Given the description of an element on the screen output the (x, y) to click on. 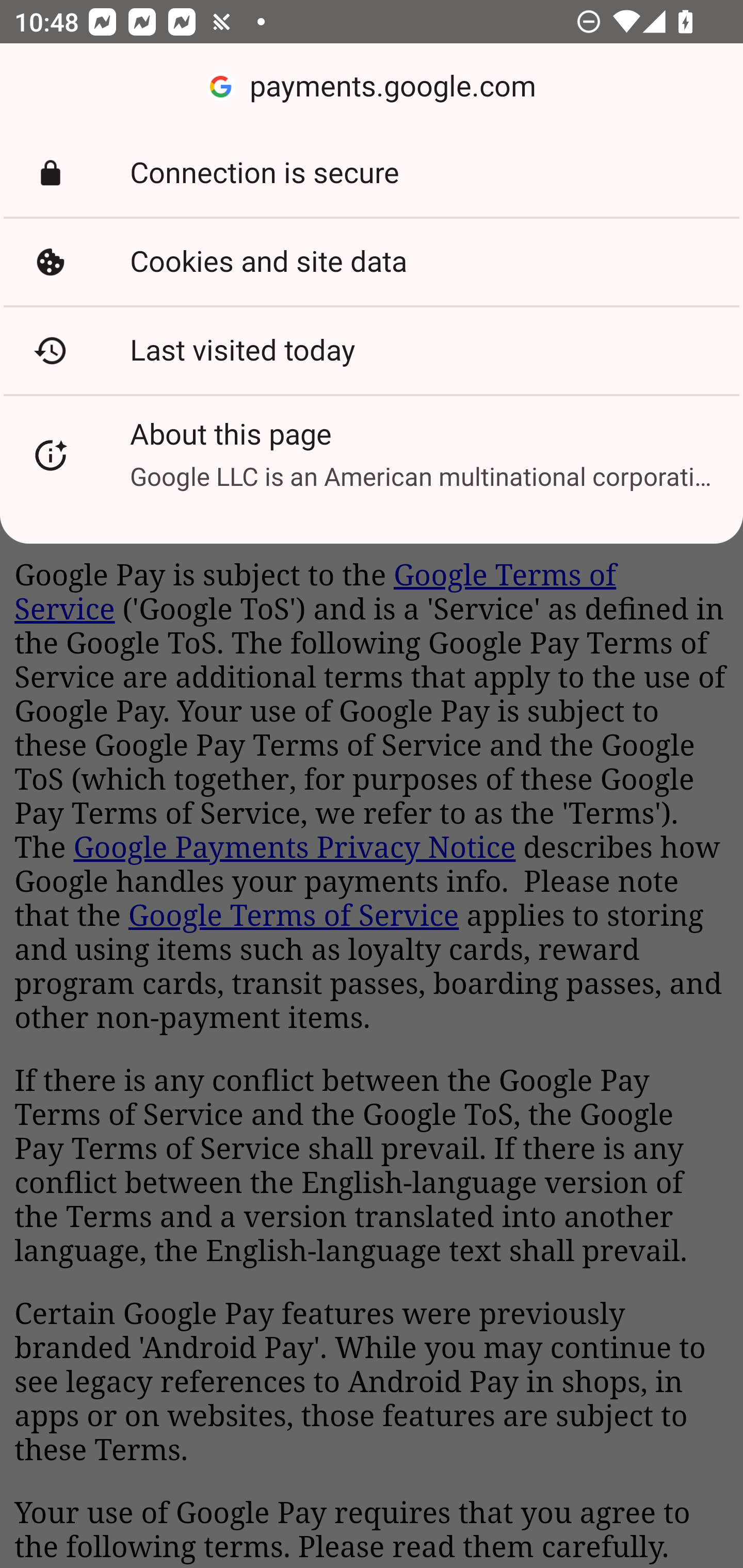
payments.google.com (371, 86)
Connection is secure (371, 173)
Cookies and site data (371, 261)
Last visited today (371, 350)
